Given the description of an element on the screen output the (x, y) to click on. 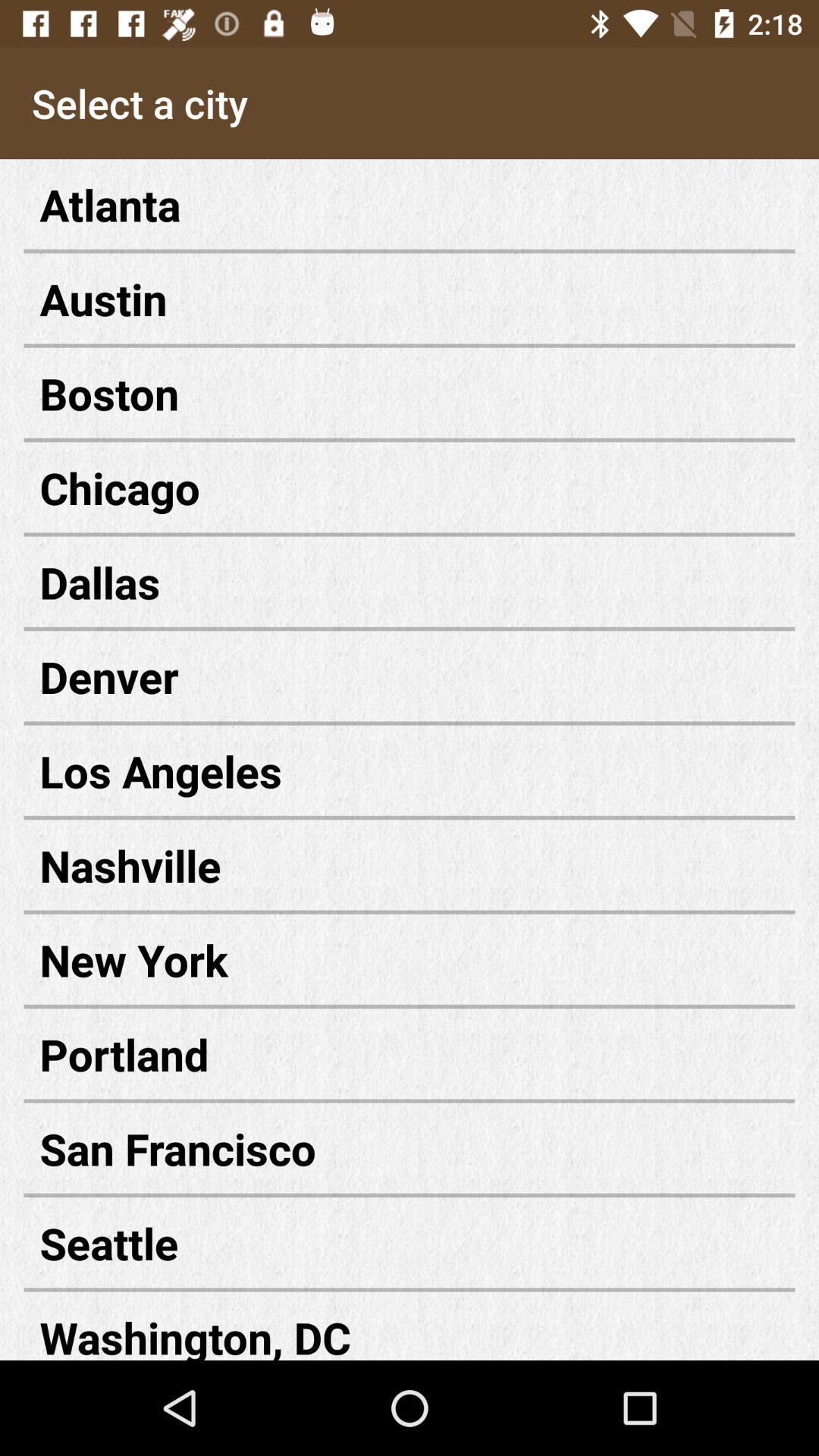
swipe to the denver icon (409, 676)
